Given the description of an element on the screen output the (x, y) to click on. 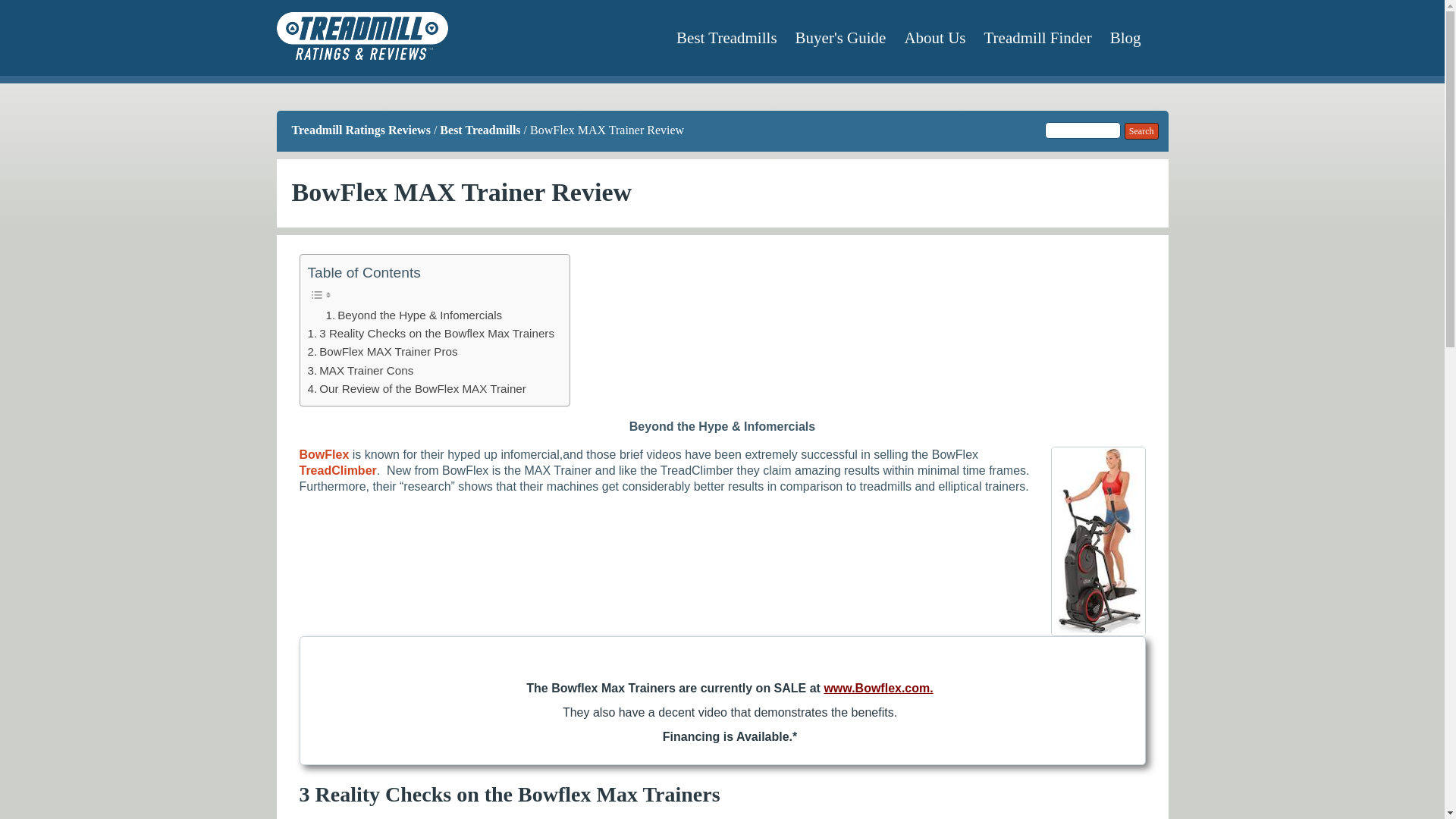
www.Bowflex.com. (878, 687)
Treadmill Finder (1038, 37)
Best Treadmills (479, 129)
Blog (1125, 37)
MAX Trainer Cons (360, 370)
Search (1141, 130)
3 Reality Checks on the Bowflex Max Trainers (430, 333)
BowFlex MAX Trainer Pros (382, 352)
Go to Treadmill Ratings Reviews. (360, 129)
Go to Best Treadmills. (479, 129)
